Given the description of an element on the screen output the (x, y) to click on. 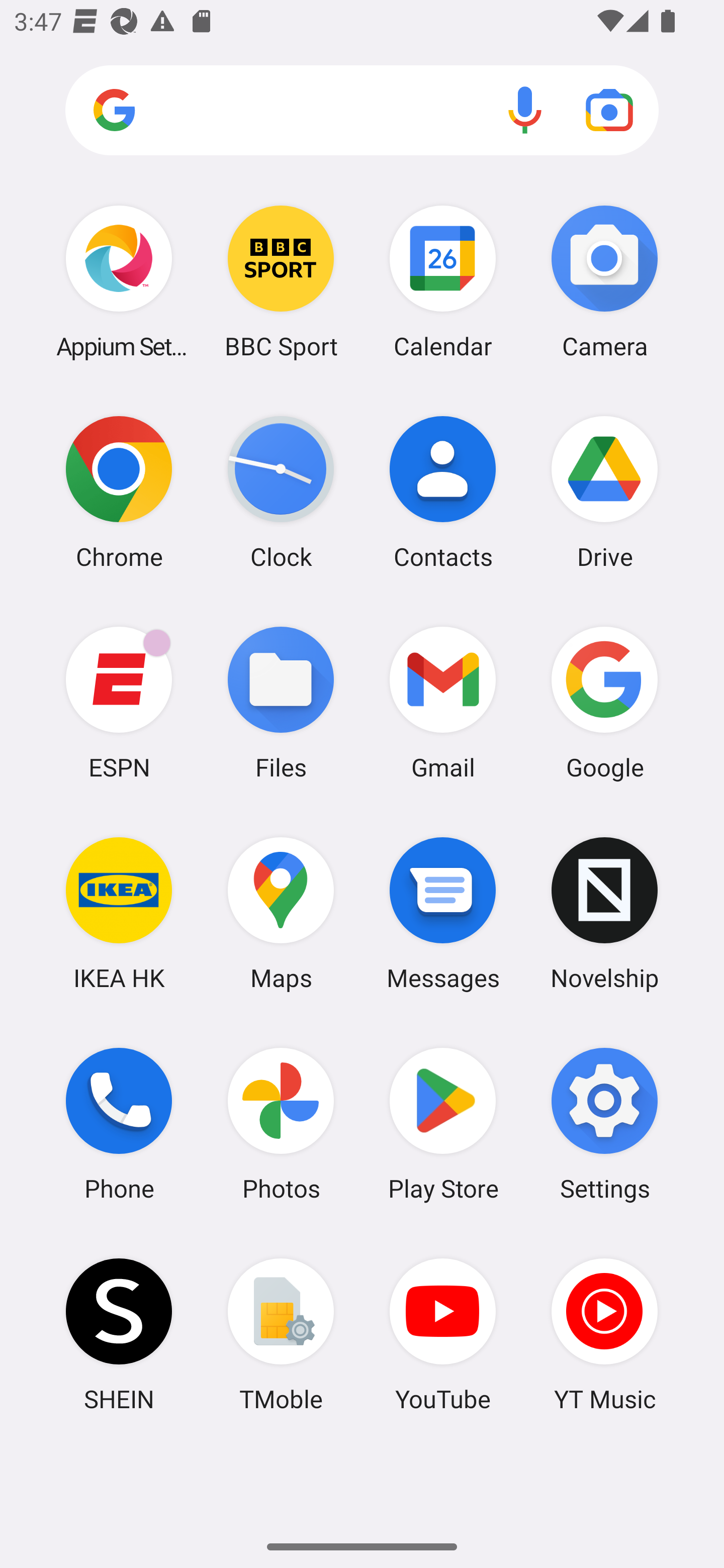
Search apps, web and more (361, 110)
Voice search (524, 109)
Google Lens (608, 109)
Appium Settings (118, 281)
BBC Sport (280, 281)
Calendar (443, 281)
Camera (604, 281)
Chrome (118, 492)
Clock (280, 492)
Contacts (443, 492)
Drive (604, 492)
ESPN ESPN has 3 notifications (118, 702)
Files (280, 702)
Gmail (443, 702)
Google (604, 702)
IKEA HK (118, 913)
Maps (280, 913)
Messages (443, 913)
Novelship (604, 913)
Phone (118, 1124)
Photos (280, 1124)
Play Store (443, 1124)
Settings (604, 1124)
SHEIN (118, 1334)
TMoble (280, 1334)
YouTube (443, 1334)
YT Music (604, 1334)
